Given the description of an element on the screen output the (x, y) to click on. 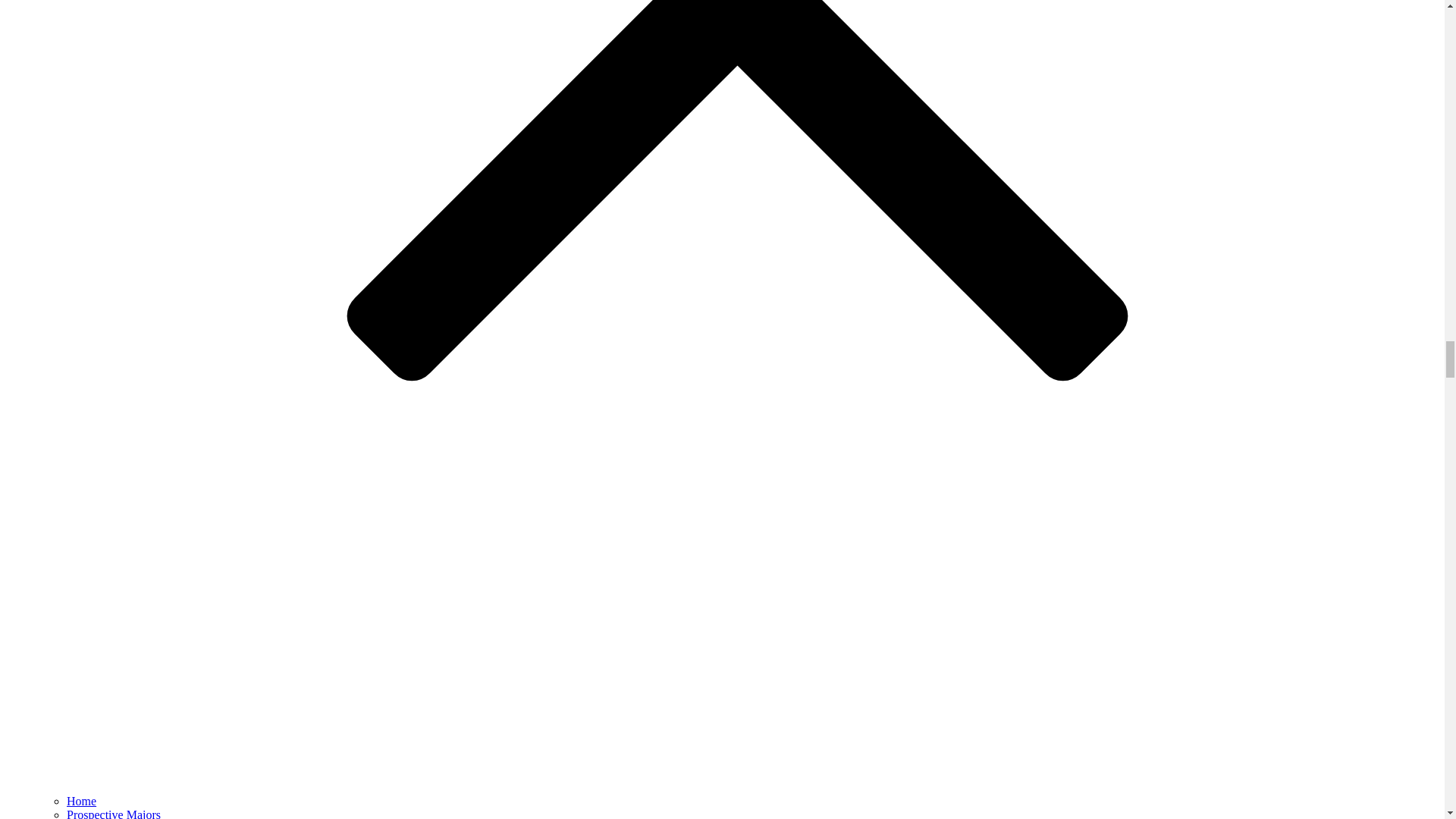
Home (81, 800)
Prospective Majors (113, 813)
